Given the description of an element on the screen output the (x, y) to click on. 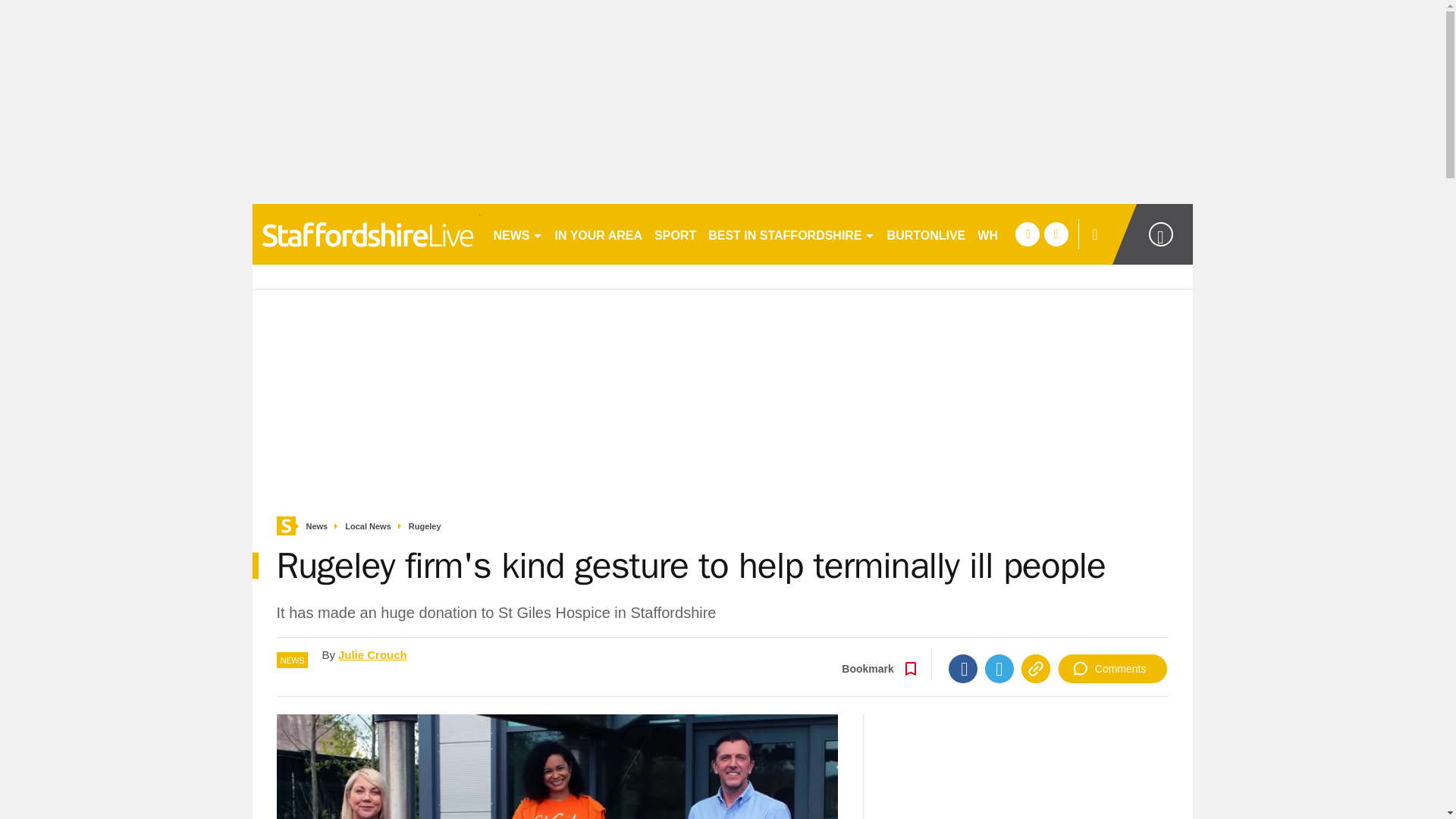
IN YOUR AREA (598, 233)
BEST IN STAFFORDSHIRE (790, 233)
Twitter (999, 668)
WHO WE ARE (1017, 233)
burtonmail (365, 233)
BURTONLIVE (926, 233)
NEWS (517, 233)
Facebook (962, 668)
twitter (1055, 233)
Comments (1112, 668)
facebook (1026, 233)
